Given the description of an element on the screen output the (x, y) to click on. 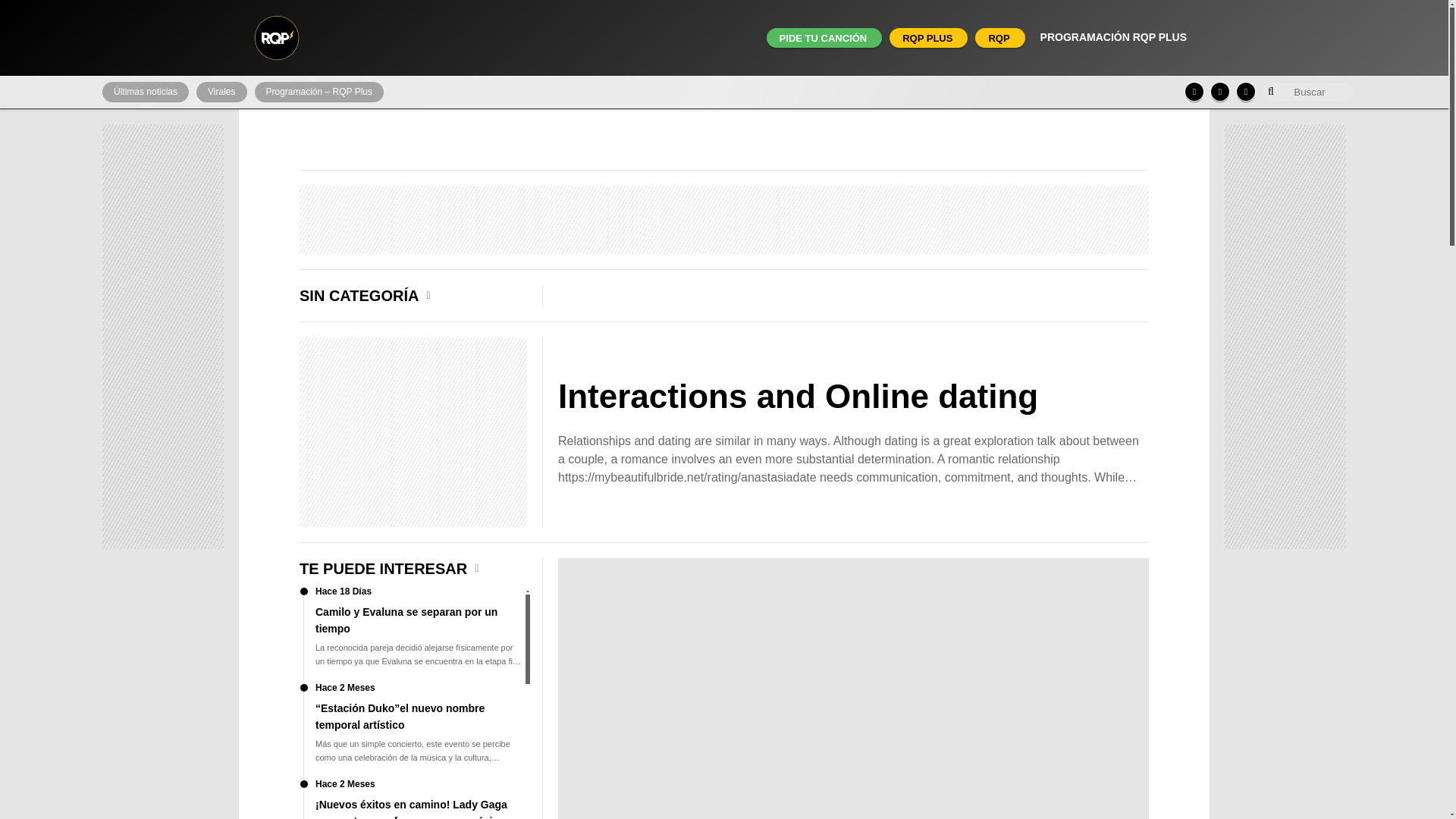
RQP PLUS (927, 37)
RQP (997, 37)
Virales (221, 91)
RQP - Bolivia (276, 37)
Camilo y Evaluna se separan por un tiempo (413, 635)
